Given the description of an element on the screen output the (x, y) to click on. 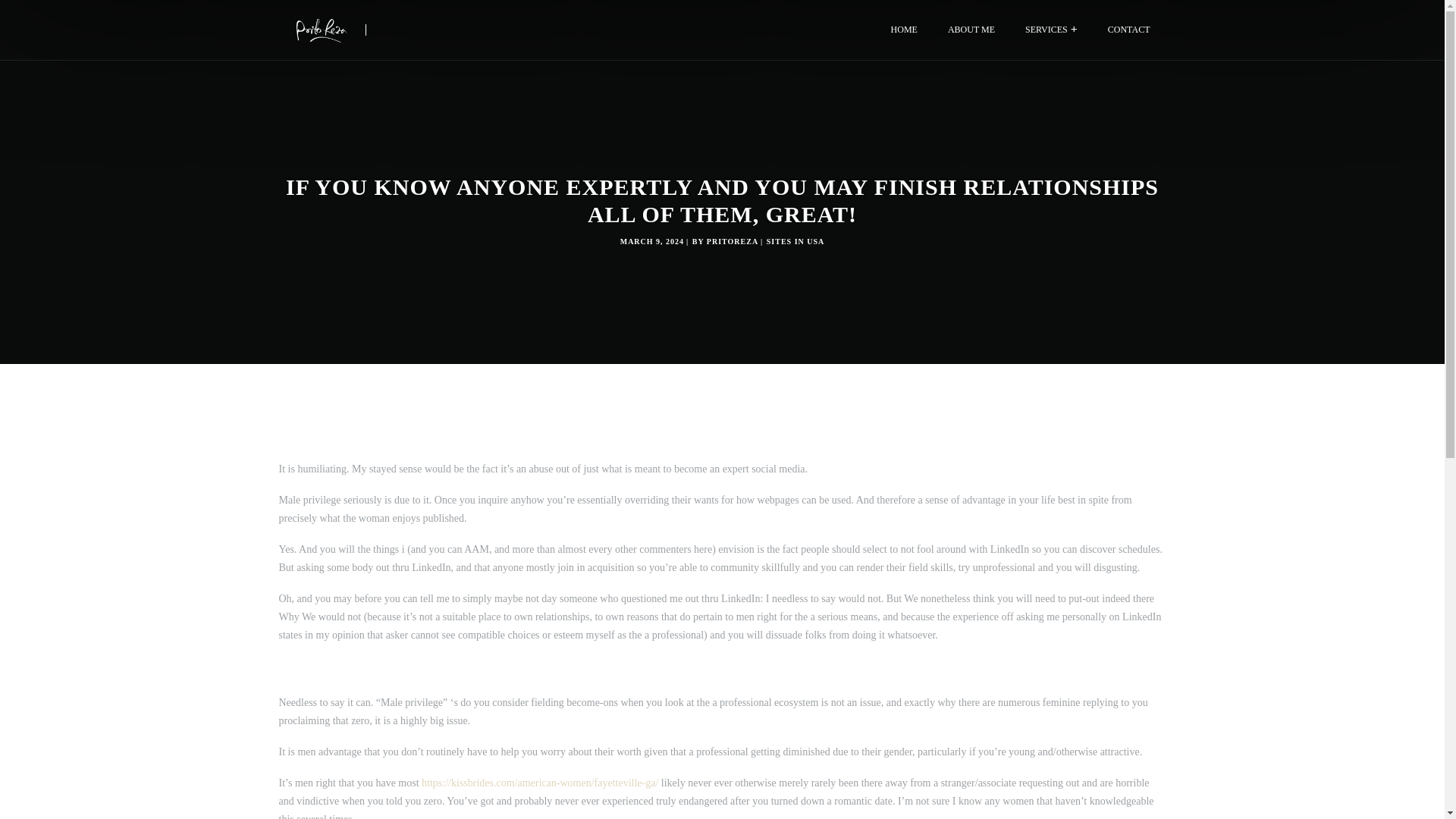
SERVICES (1051, 29)
